Given the description of an element on the screen output the (x, y) to click on. 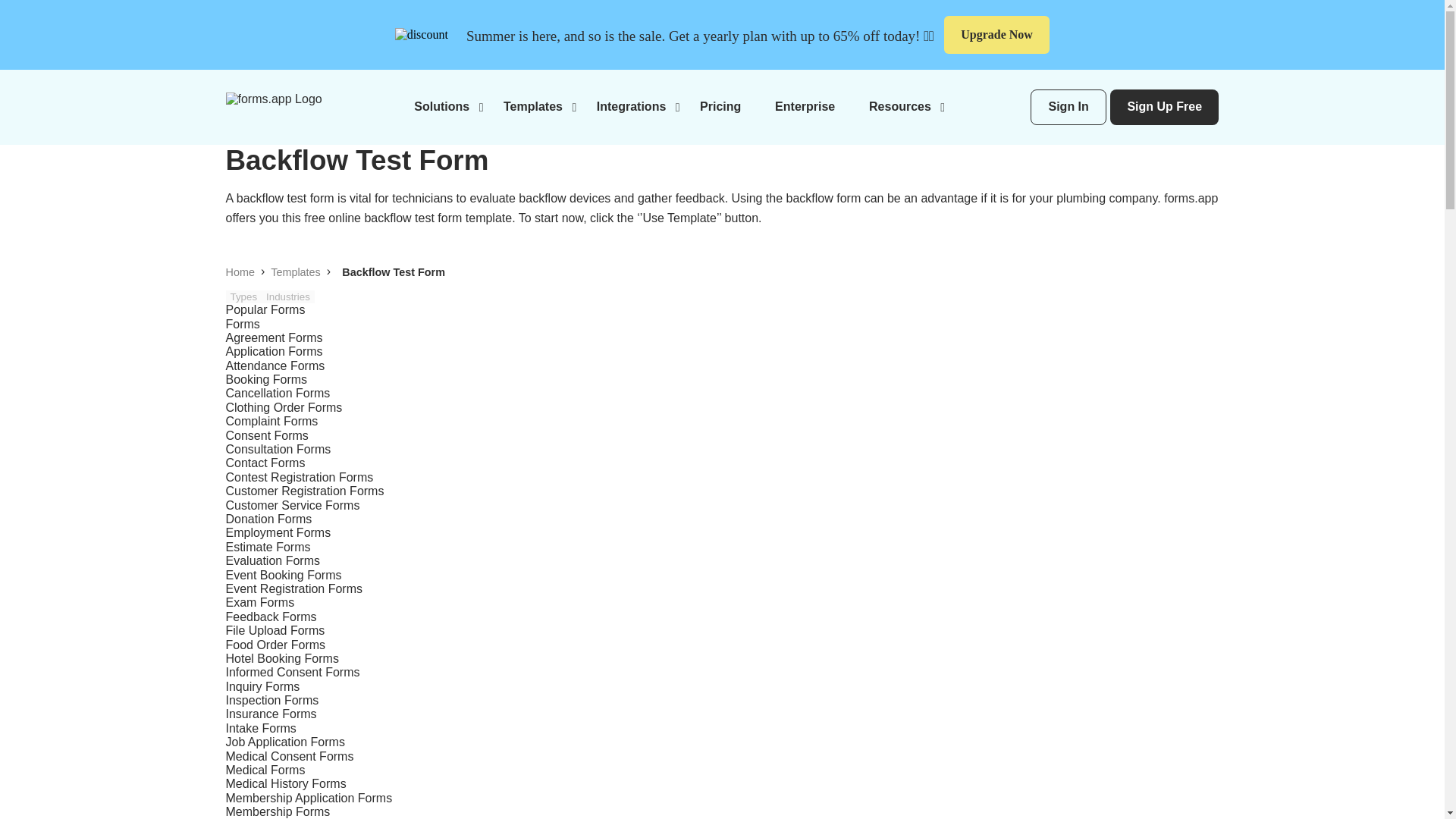
Sign Up Free (1163, 107)
Upgrade Now (996, 34)
Sign In (1068, 107)
Pricing (720, 106)
Enterprise (804, 106)
